Given the description of an element on the screen output the (x, y) to click on. 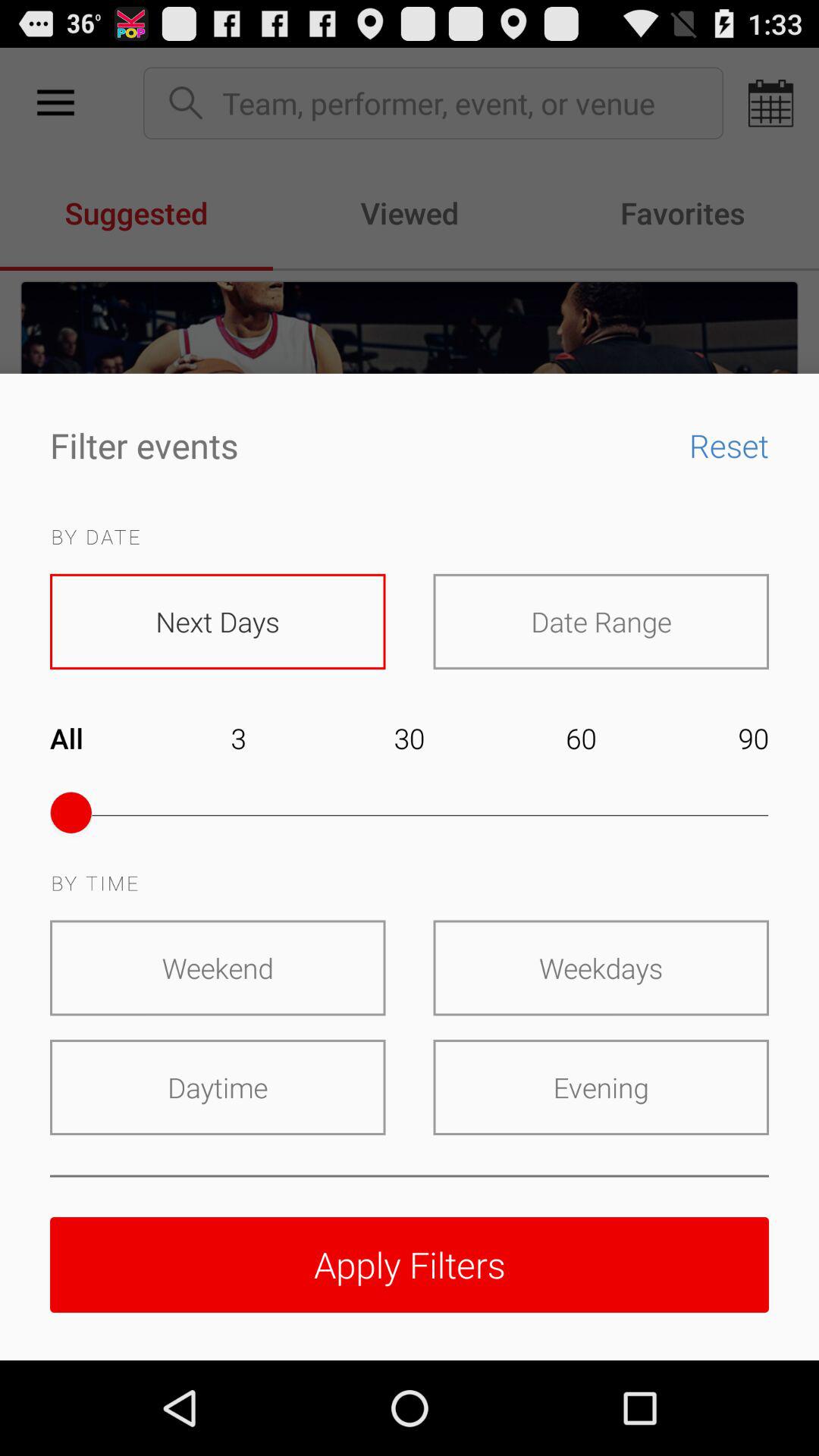
launch the item to the left of evening (217, 1087)
